Given the description of an element on the screen output the (x, y) to click on. 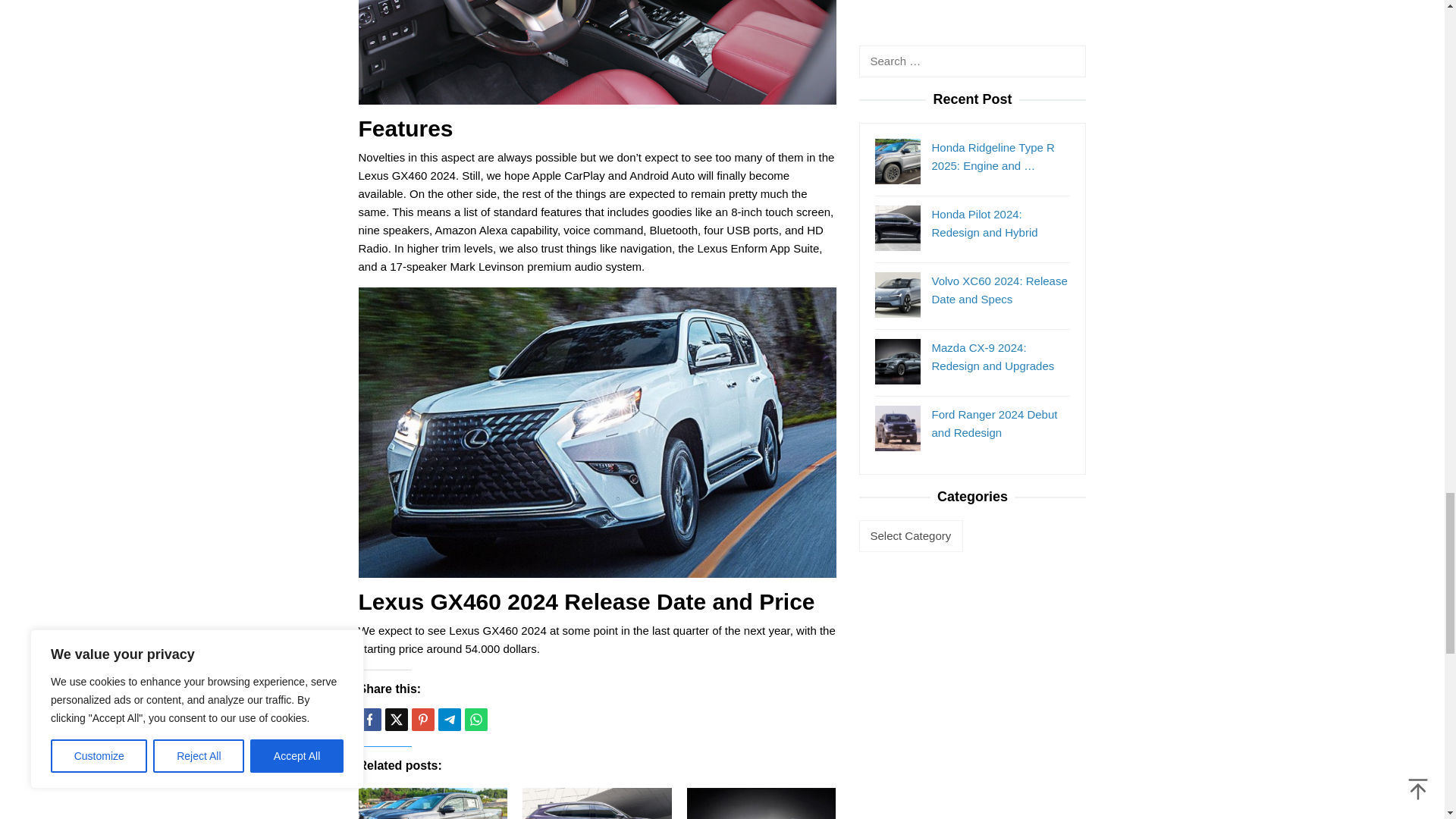
Tweet this (396, 719)
Share this (369, 719)
Pin this (421, 719)
